Given the description of an element on the screen output the (x, y) to click on. 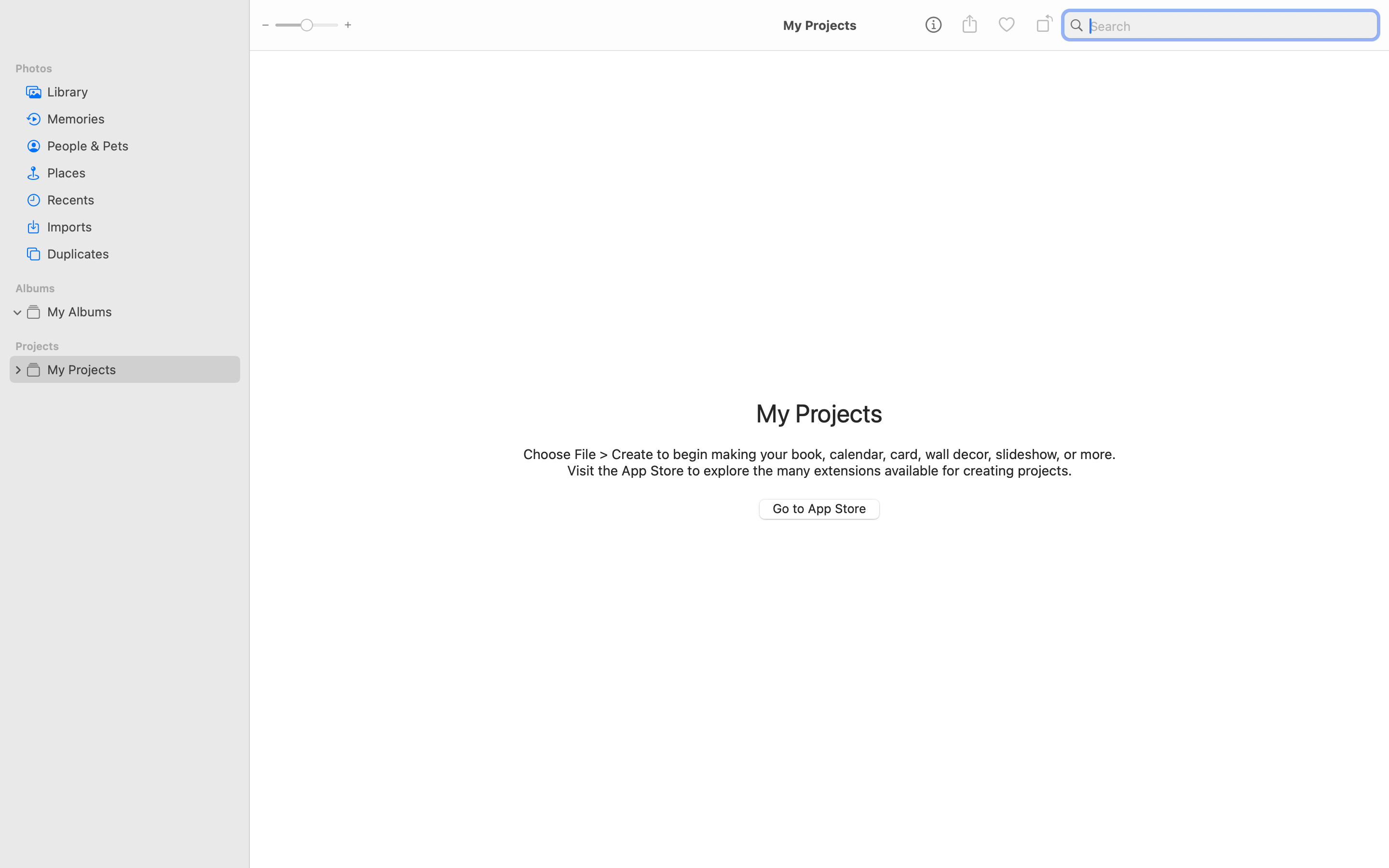
People & Pets Element type: AXStaticText (139, 145)
0 Element type: AXCheckBox (1006, 25)
My Projects Element type: AXStaticText (818, 413)
1 Element type: AXDisclosureTriangle (17, 311)
Memories Element type: AXStaticText (139, 118)
